Given the description of an element on the screen output the (x, y) to click on. 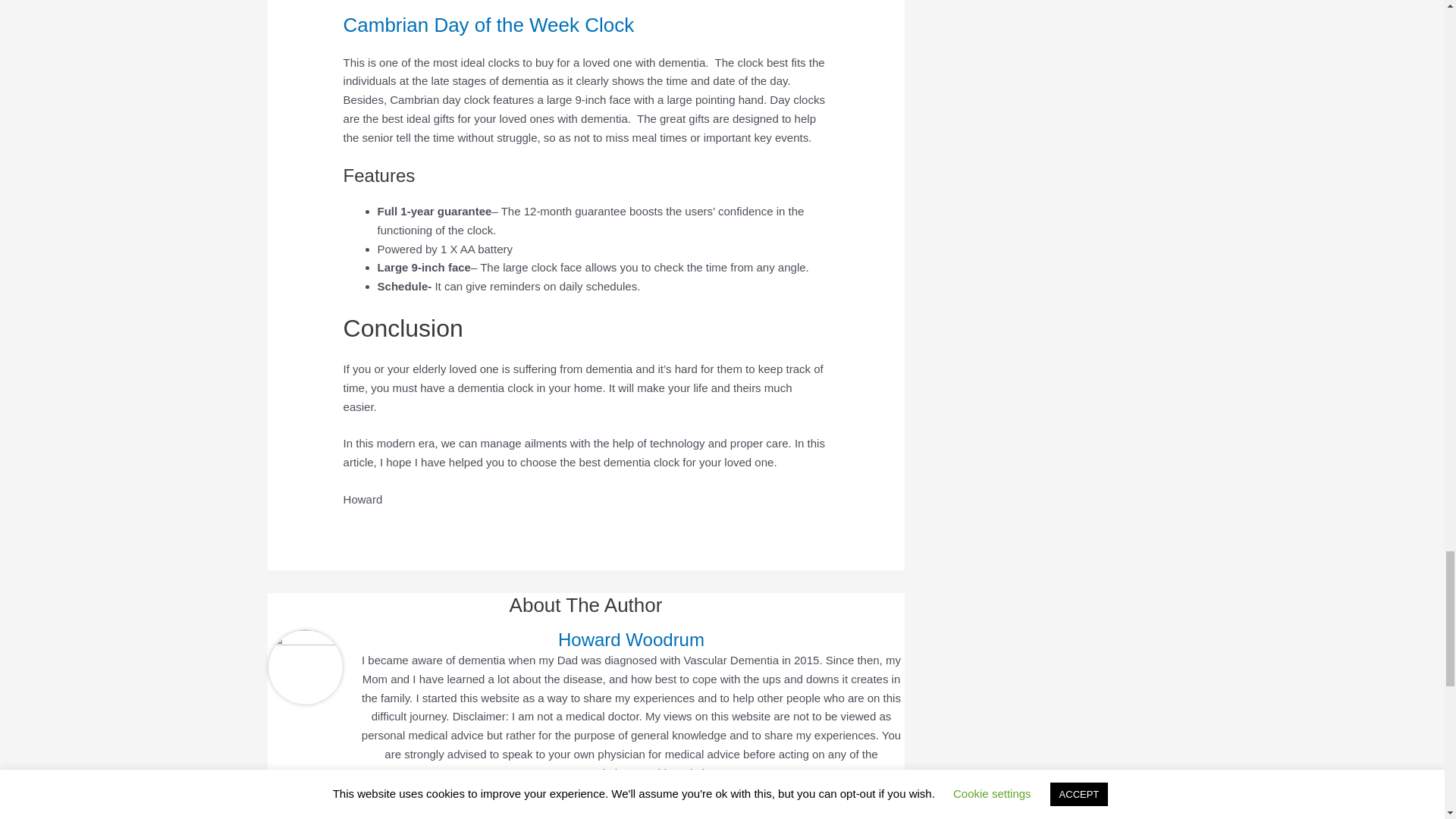
The Stigma of Dementia and Alzheimer's Disease (870, 812)
Howard Woodrum (631, 640)
Best Busy Boards for Dementia Patients (310, 812)
Cambrian Day of the Week Clock (488, 24)
